Given the description of an element on the screen output the (x, y) to click on. 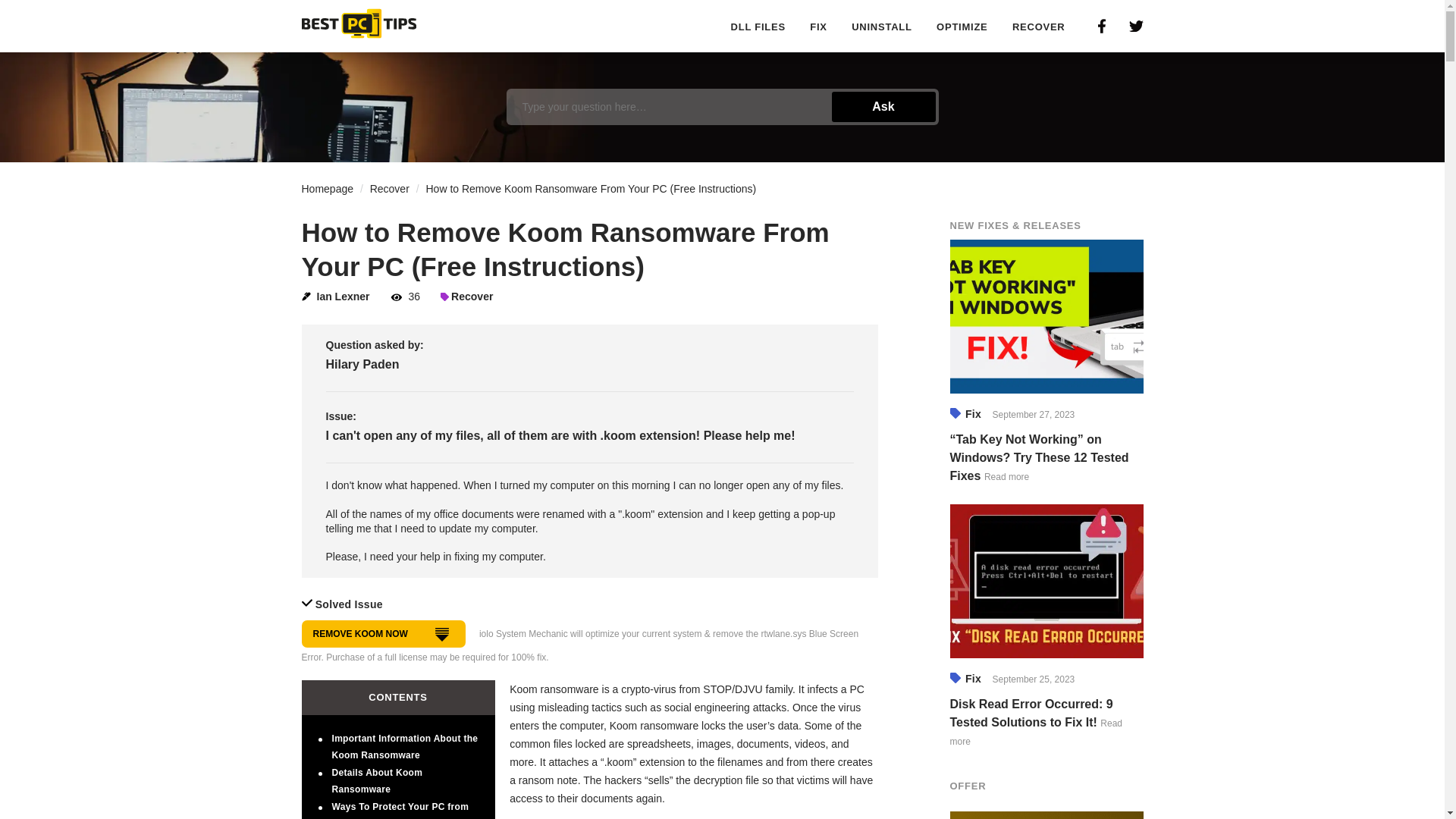
OPTIMIZE (961, 26)
Important Information About the Koom Ransomware (405, 746)
Homepage (327, 188)
Ask (882, 106)
FIX (818, 26)
RECOVER (1038, 26)
Ask (882, 106)
UNINSTALL (881, 26)
Recover (389, 188)
REMOVE KOOM NOW (383, 633)
